Given the description of an element on the screen output the (x, y) to click on. 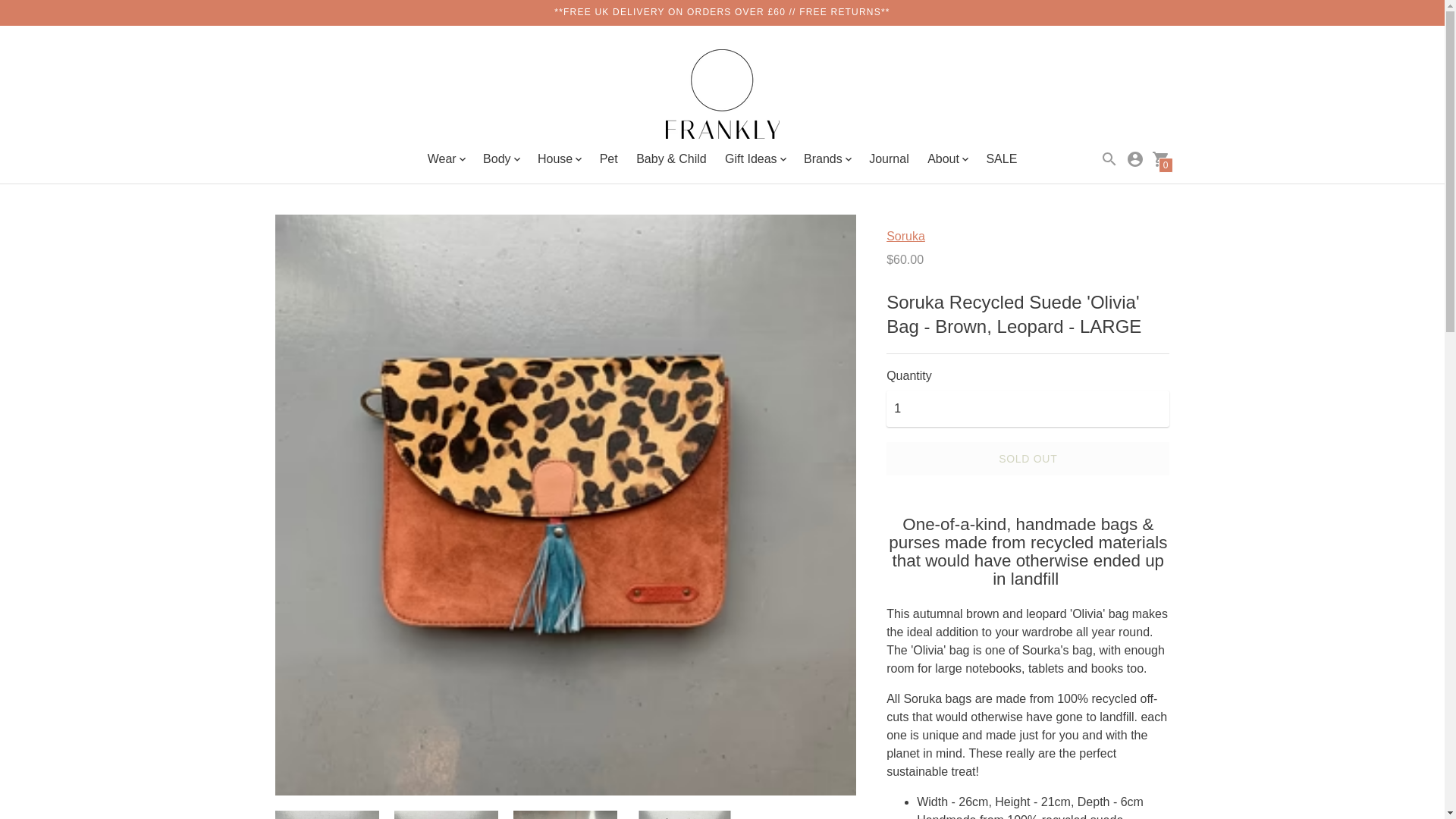
Brands (826, 158)
Wear (446, 158)
Pet (608, 158)
Gift Ideas (754, 158)
Body (500, 158)
Soruka (905, 236)
House (558, 158)
1 (1027, 408)
